Given the description of an element on the screen output the (x, y) to click on. 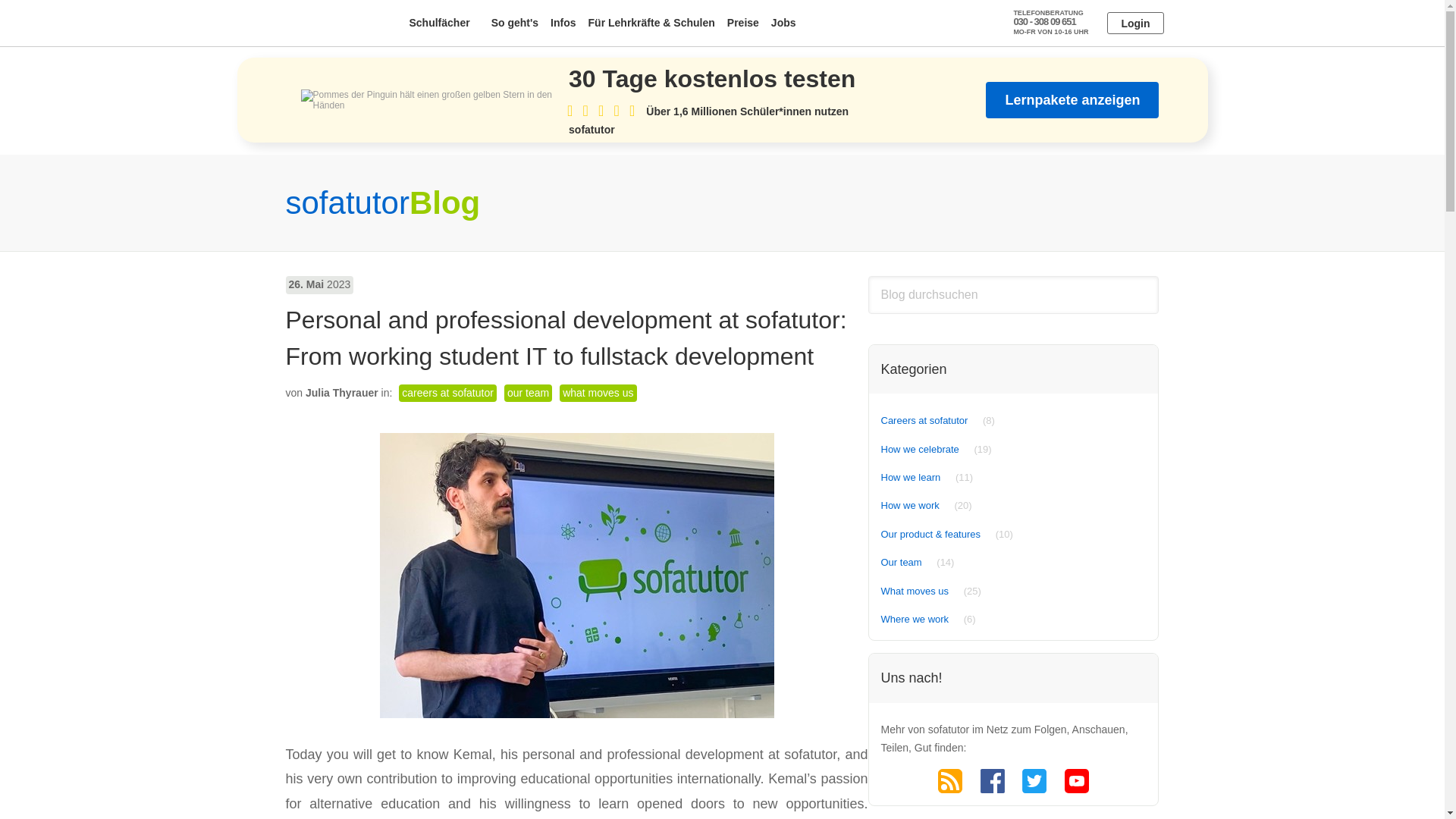
So geht's (514, 22)
Where we work (914, 618)
What moves us (914, 591)
Careers at sofatutor (924, 419)
How we celebrate (920, 449)
How we work (910, 505)
How we learn (911, 477)
Our team (901, 562)
